Given the description of an element on the screen output the (x, y) to click on. 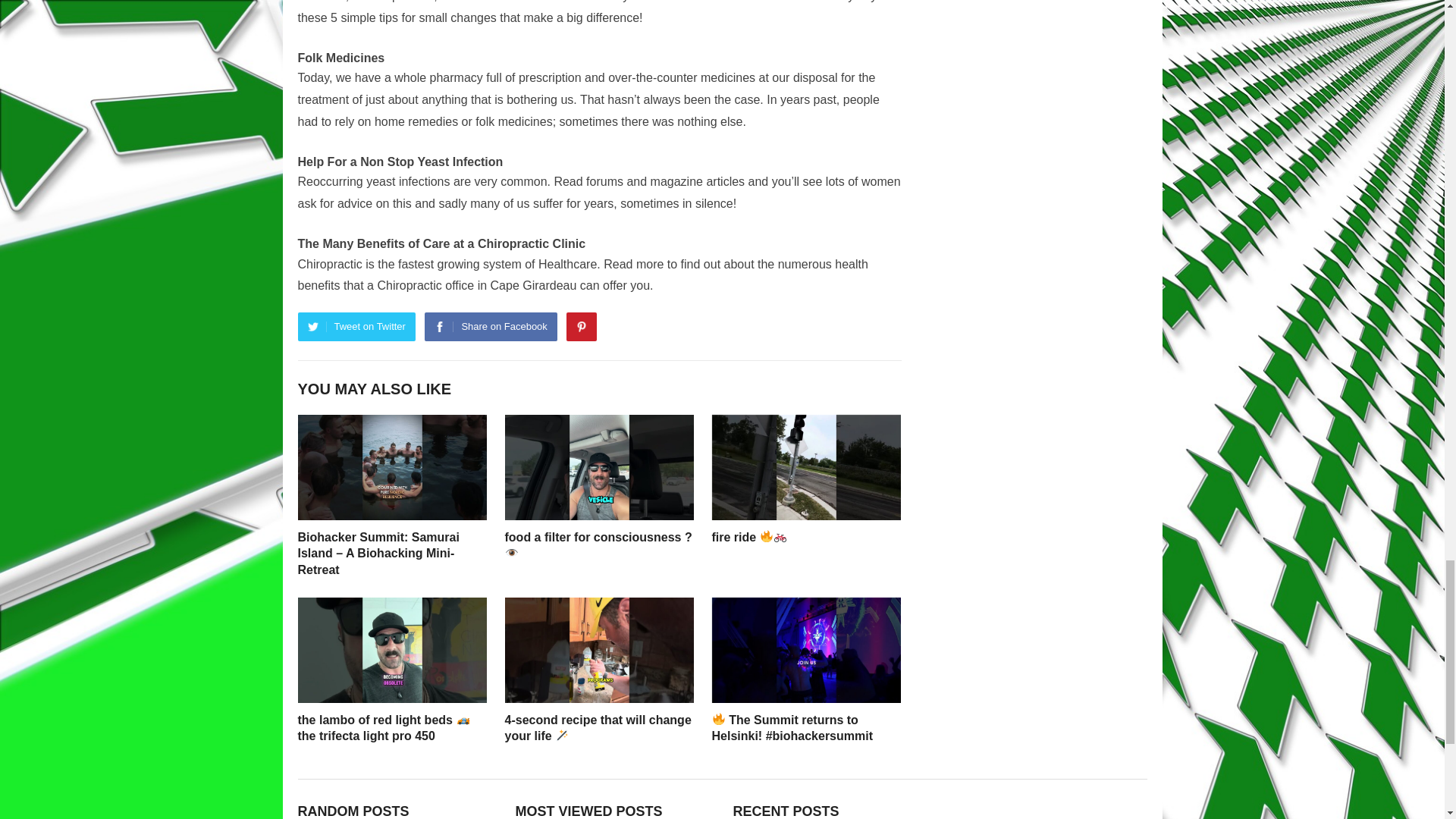
food a filter for consciousness ? (599, 545)
Pinterest (581, 326)
Share on Facebook (490, 326)
the lambo of red light beds the trifecta light pro 450 (382, 727)
fire ride (749, 536)
Tweet on Twitter (355, 326)
